Given the description of an element on the screen output the (x, y) to click on. 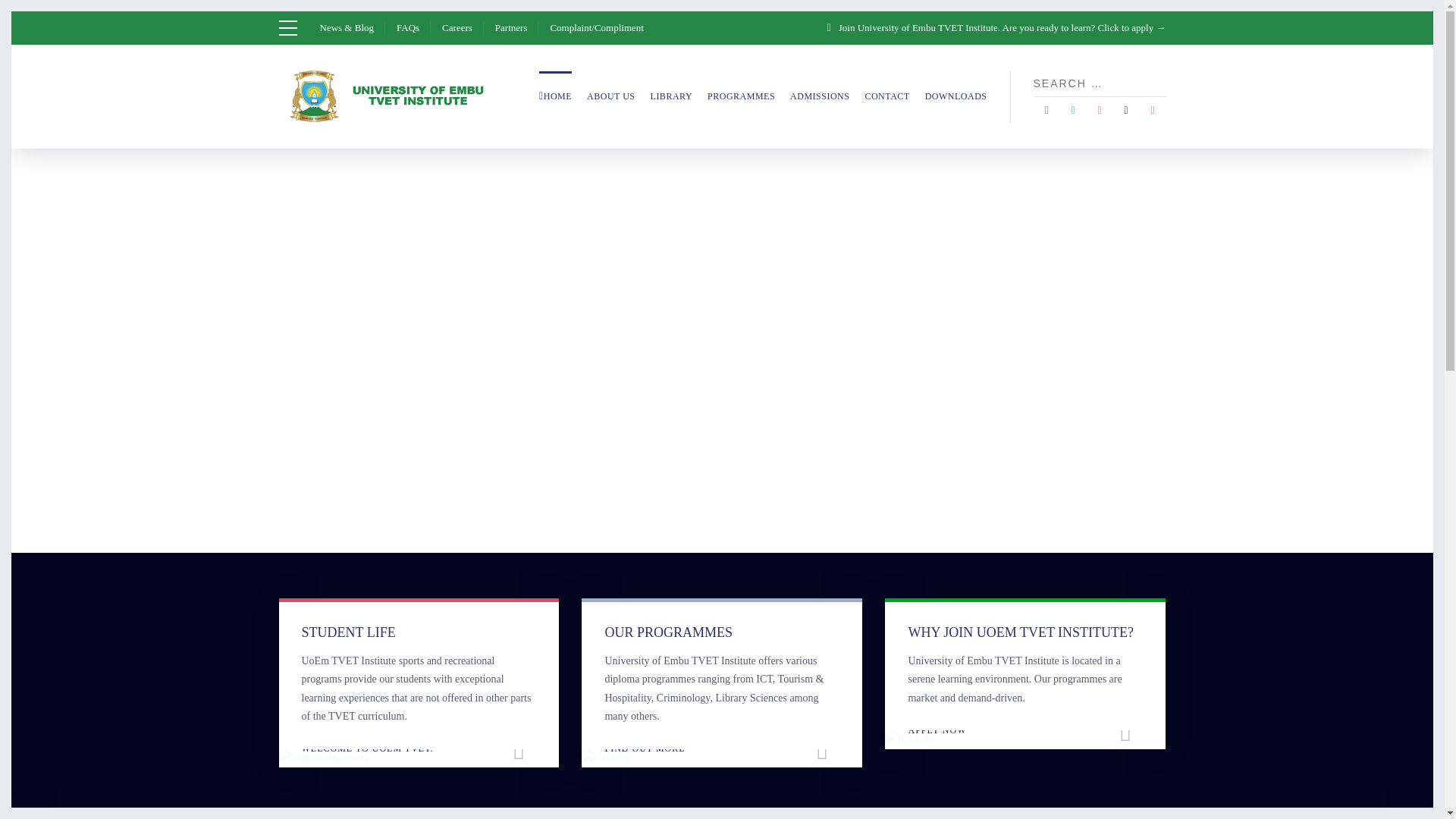
Careers (456, 27)
StudentLifeSports (323, 758)
Search (1158, 83)
Partners (511, 27)
FAQs (407, 27)
ABOUT US (610, 96)
Search (1158, 83)
DOWNLOADS (955, 96)
Search (1158, 83)
PROGRAMMES (740, 96)
